Given the description of an element on the screen output the (x, y) to click on. 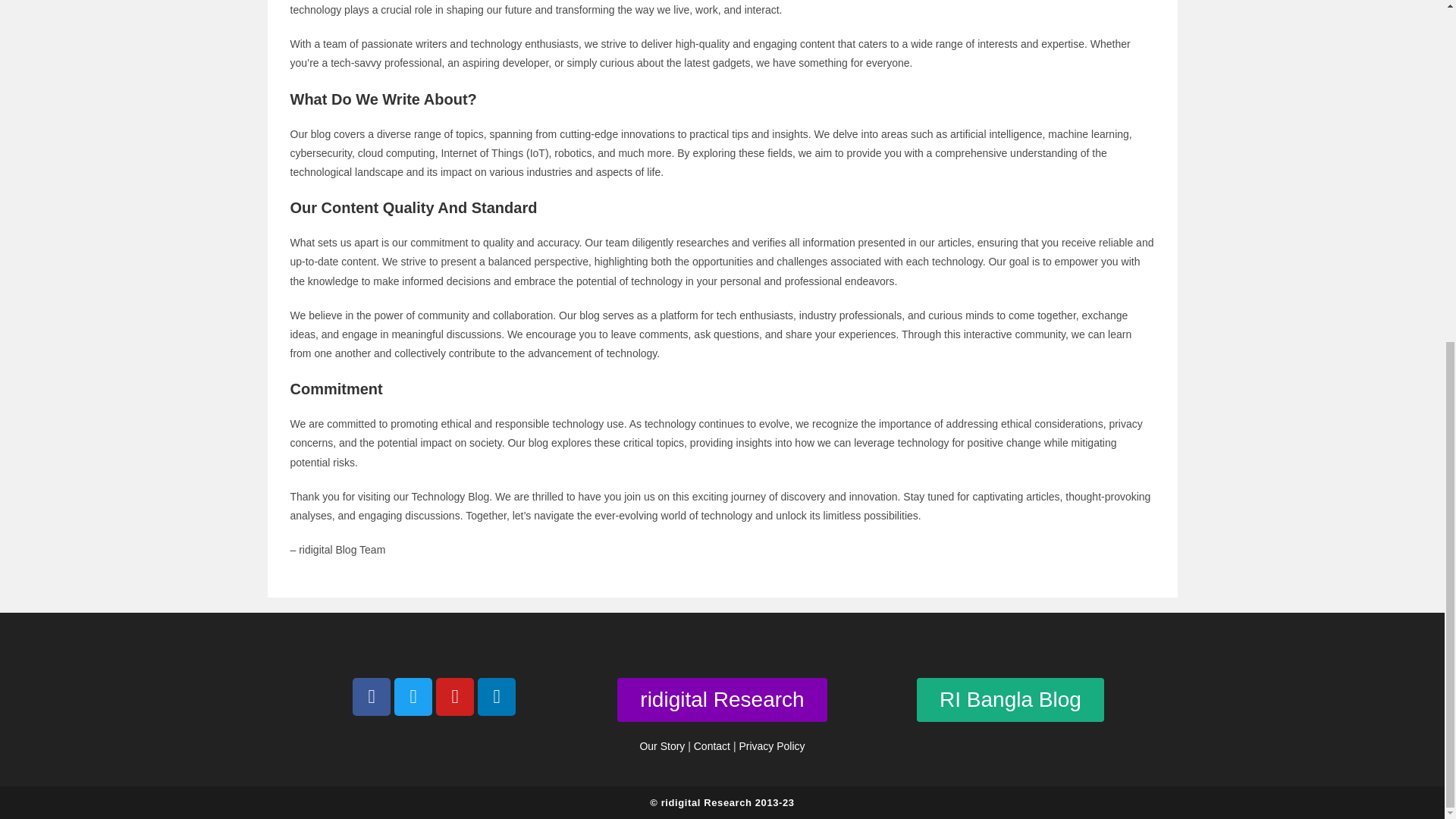
RI Bangla Blog (1010, 699)
ridigital Research (722, 699)
Contact (712, 746)
Our Story (661, 746)
Privacy Policy (771, 746)
